Given the description of an element on the screen output the (x, y) to click on. 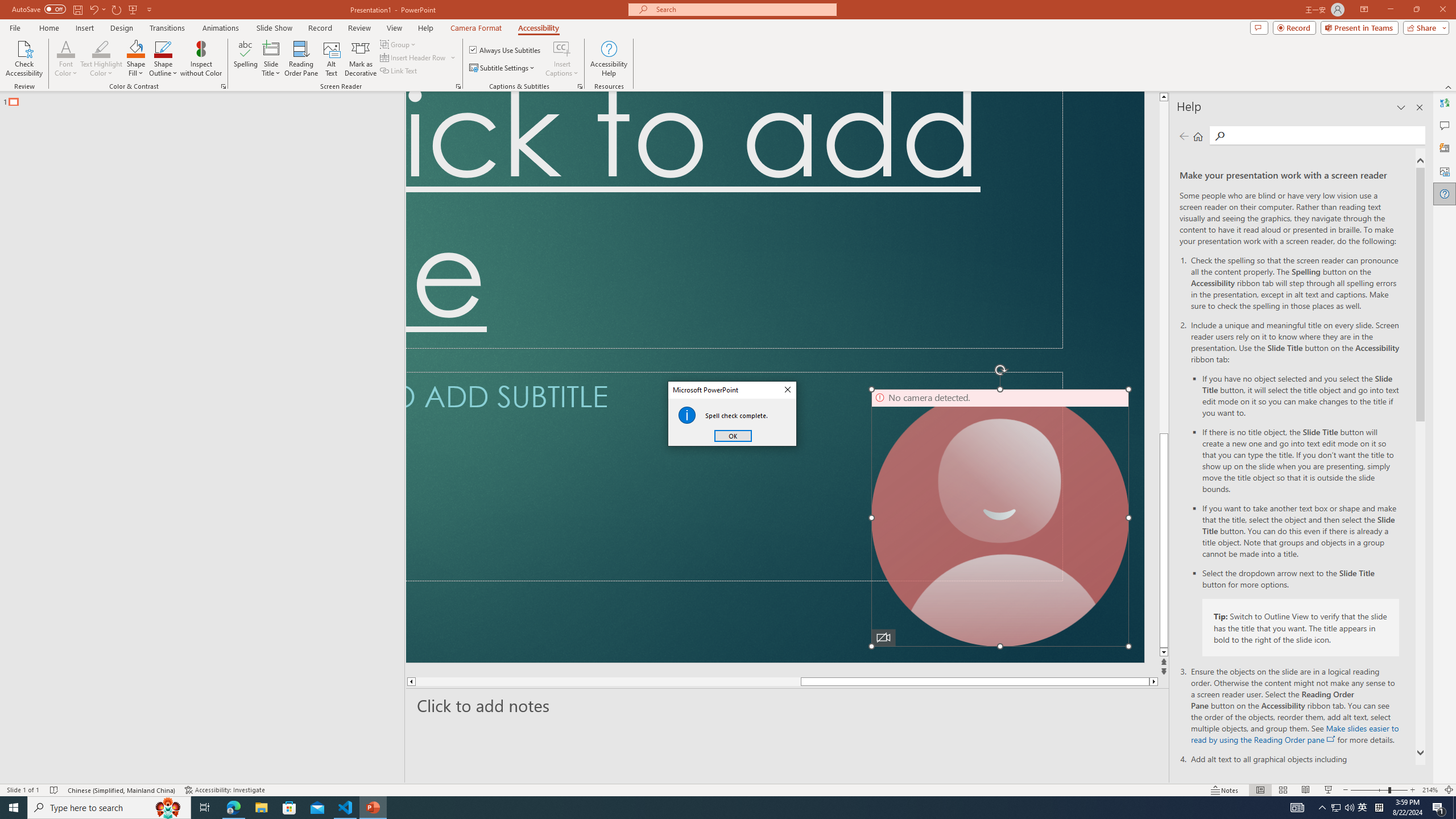
Back (59, 54)
Home (59, 87)
Save (59, 349)
Info (59, 318)
AutomationID: DynamicSearchBoxGleamImage (647, 800)
Close (59, 599)
